Given the description of an element on the screen output the (x, y) to click on. 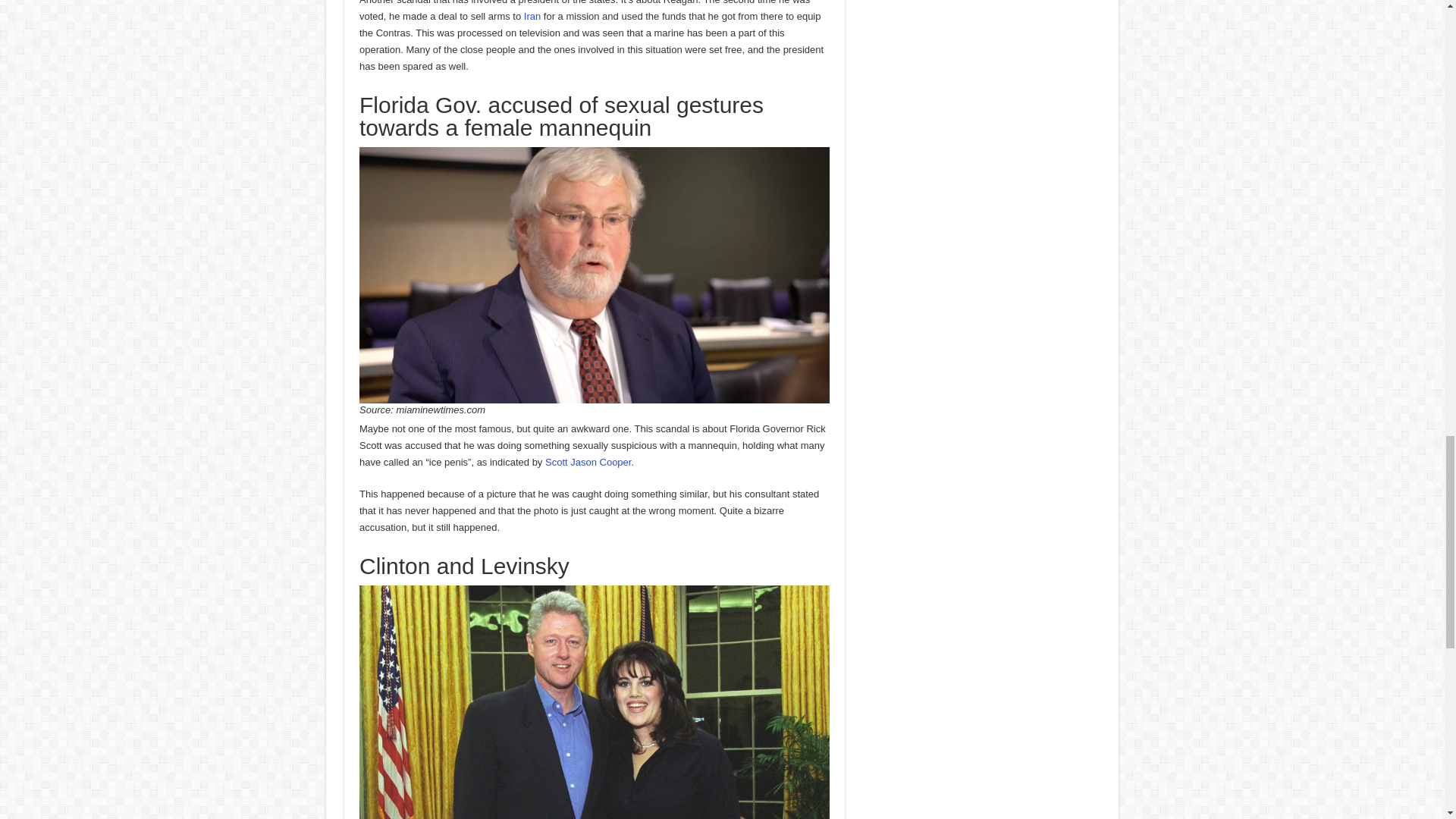
Iran (532, 16)
Scott Jason Cooper (587, 461)
